Given the description of an element on the screen output the (x, y) to click on. 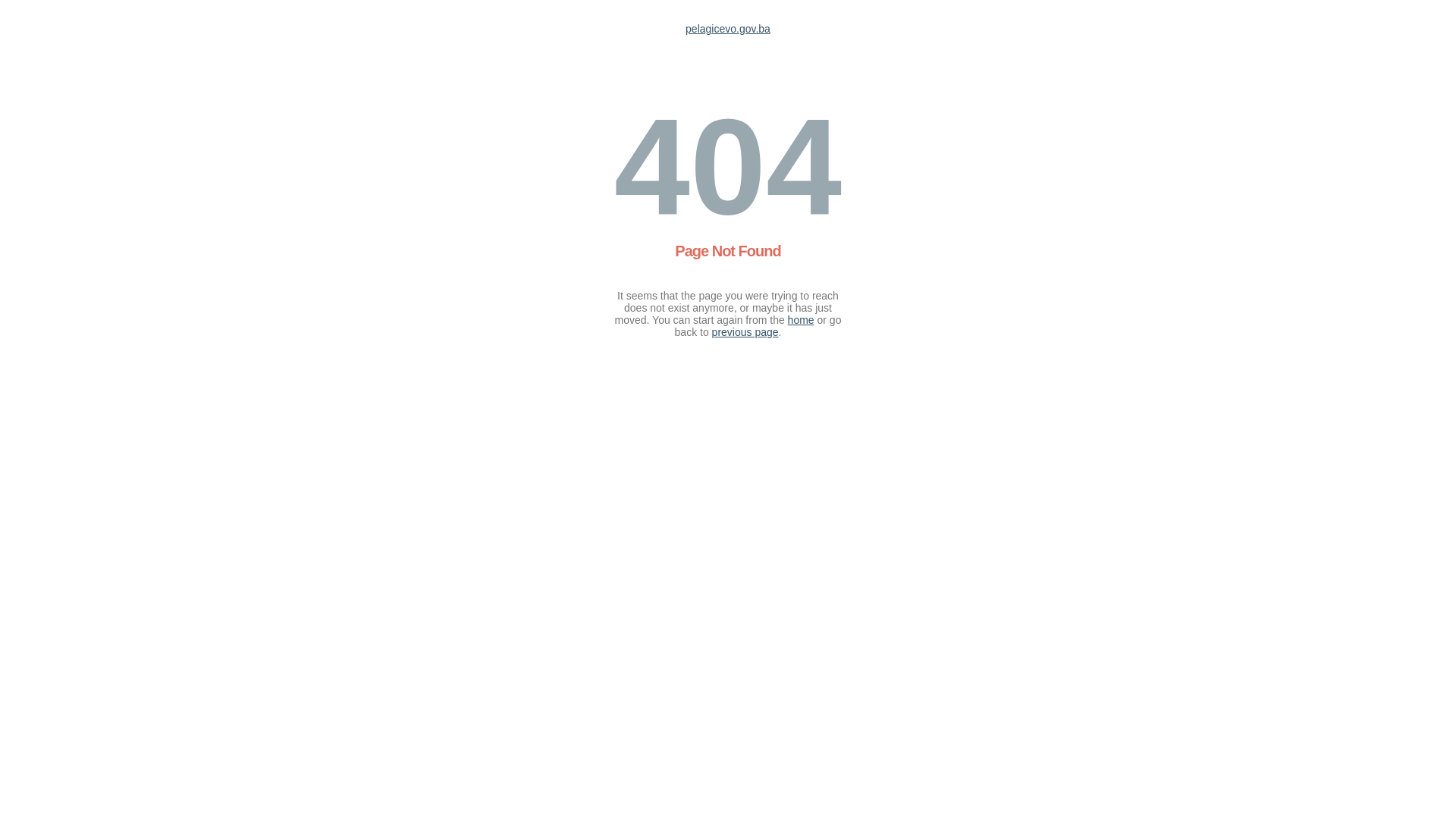
home Element type: text (800, 319)
pelagicevo.gov.ba Element type: text (727, 28)
previous page Element type: text (745, 332)
